Given the description of an element on the screen output the (x, y) to click on. 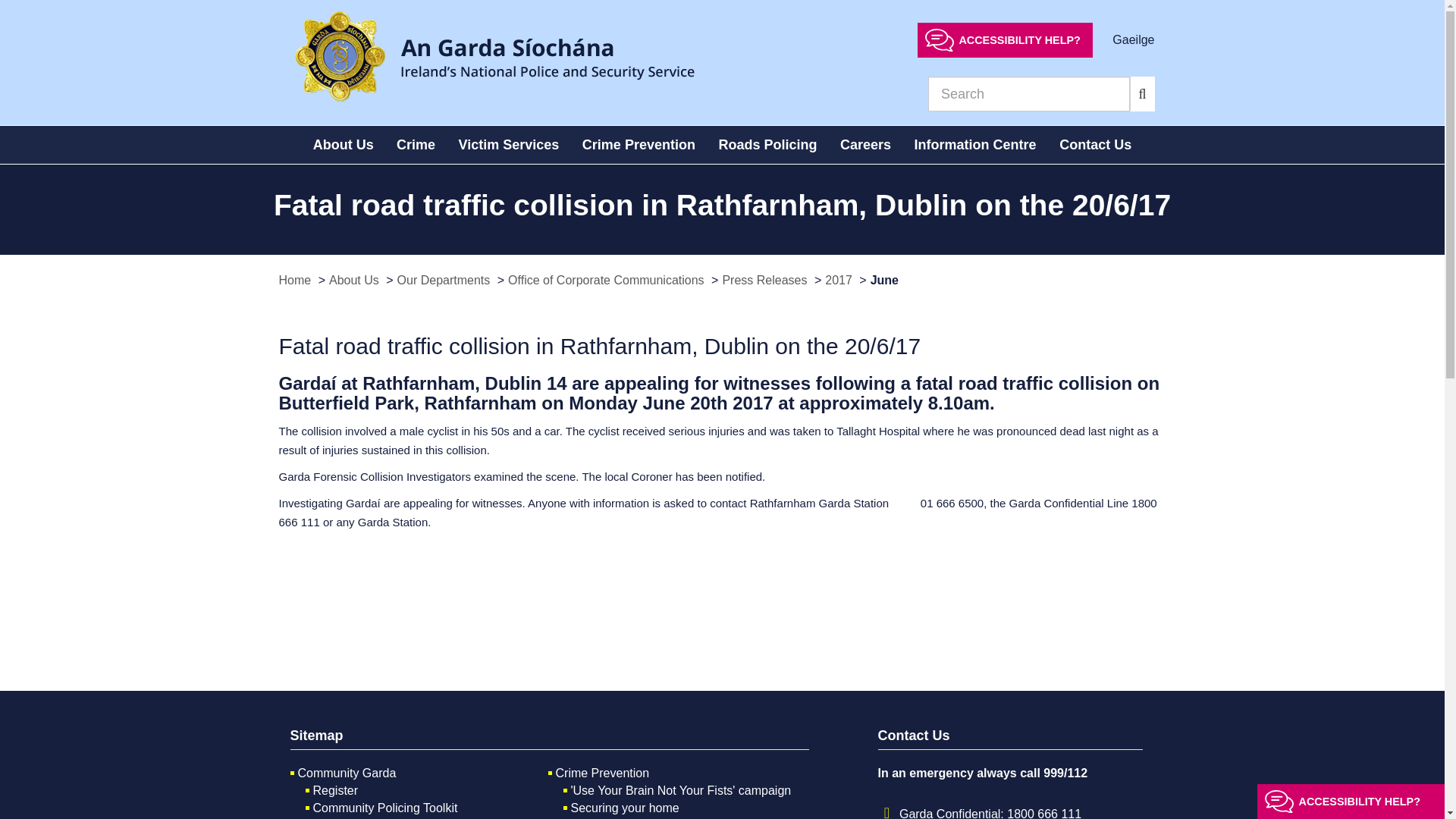
About Us (343, 144)
Crime (415, 144)
ACCESSIBILITY HELP? (1005, 39)
Gaeilge (1133, 39)
